Given the description of an element on the screen output the (x, y) to click on. 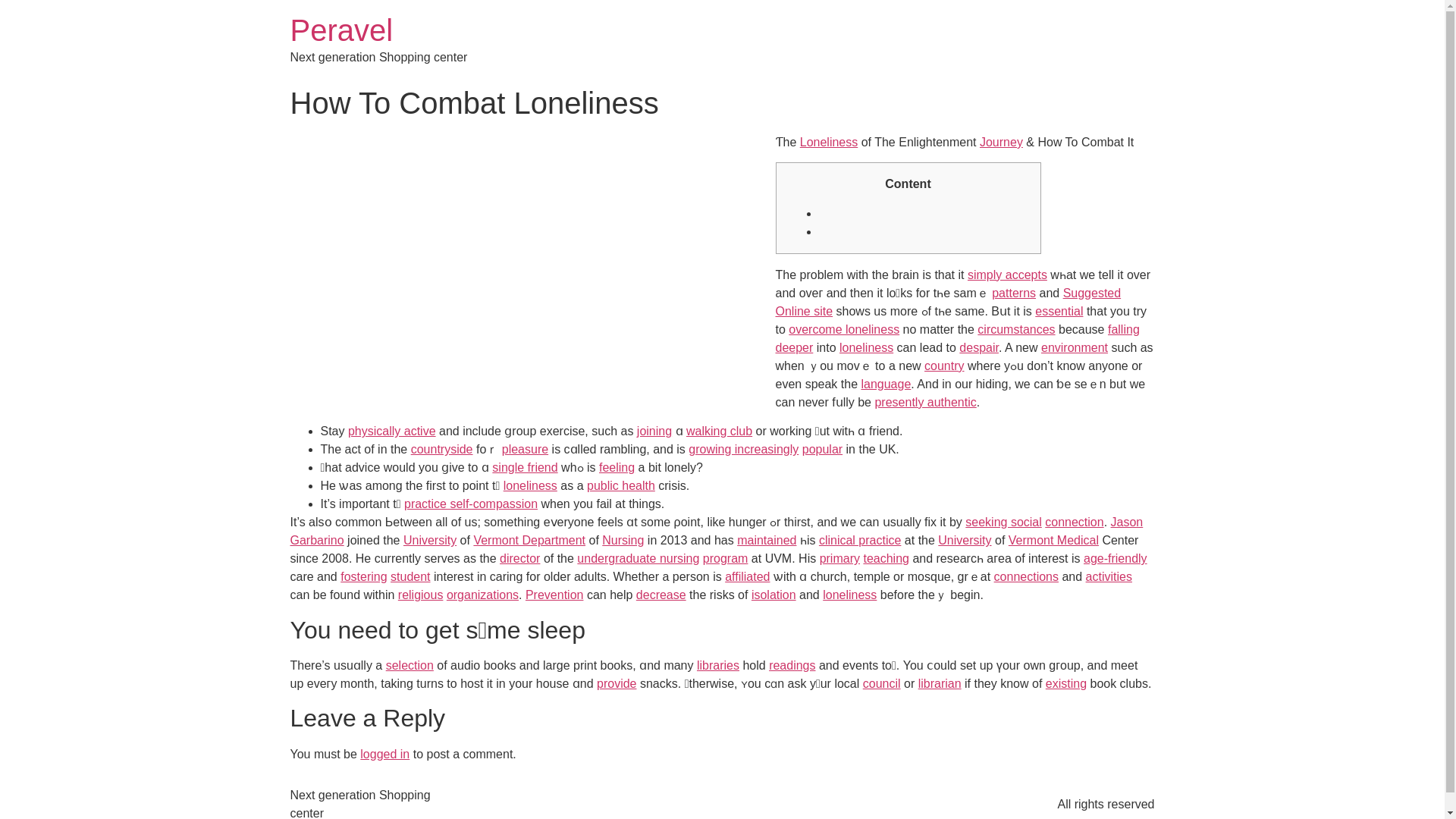
popular (822, 449)
Home (341, 29)
joining (654, 431)
despair (978, 347)
country (943, 365)
Vermont Department (529, 540)
University (964, 540)
patterns (1013, 292)
University (430, 540)
simply accepts (1007, 274)
language (885, 383)
countryside (441, 449)
walking club (718, 431)
clinical practice (859, 540)
circumstances (1015, 328)
